Given the description of an element on the screen output the (x, y) to click on. 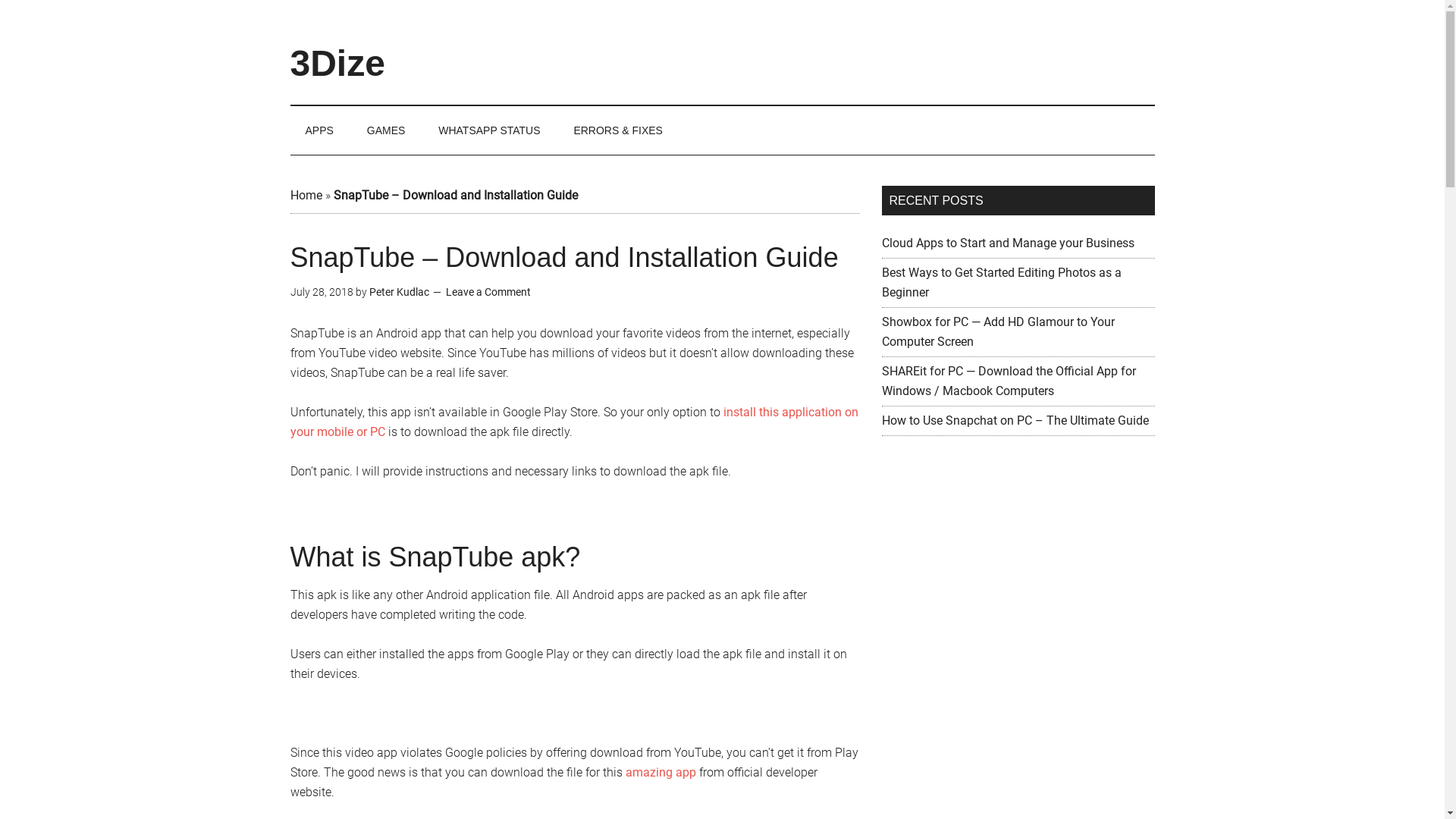
Home Element type: text (305, 195)
APPS Element type: text (318, 130)
GAMES Element type: text (385, 130)
Best Ways to Get Started Editing Photos as a Beginner Element type: text (1000, 282)
Cloud Apps to Start and Manage your Business Element type: text (1007, 242)
Leave a Comment Element type: text (487, 291)
ERRORS & FIXES Element type: text (617, 130)
install this application on your mobile or PC Element type: text (573, 421)
WHATSAPP STATUS Element type: text (489, 130)
amazing app Element type: text (659, 772)
Peter Kudlac Element type: text (398, 291)
Skip to main content Element type: text (0, 0)
3Dize Element type: text (336, 63)
